Given the description of an element on the screen output the (x, y) to click on. 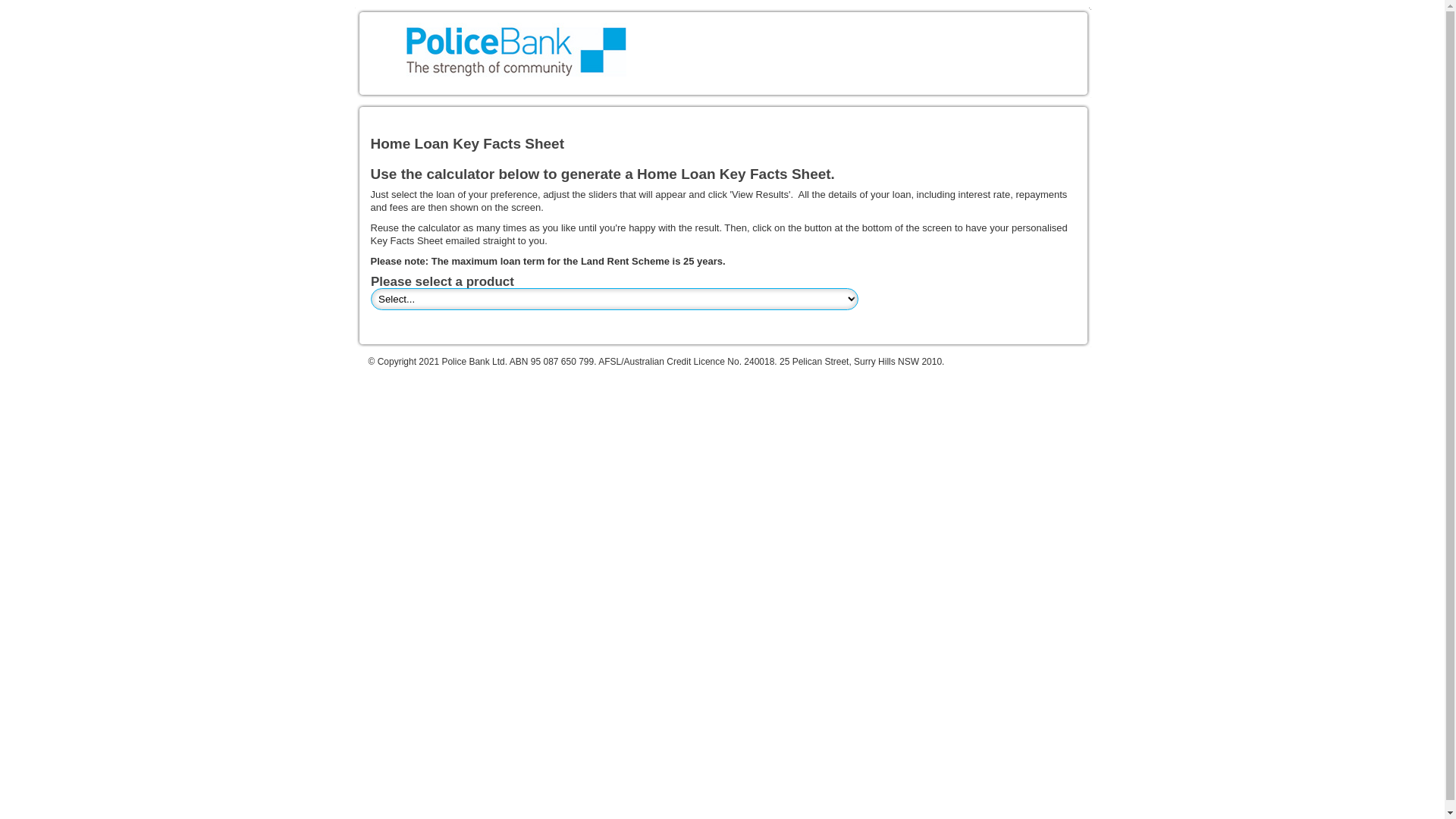
Twitter For Websites: Tweet Button Element type: hover (407, 324)
